Given the description of an element on the screen output the (x, y) to click on. 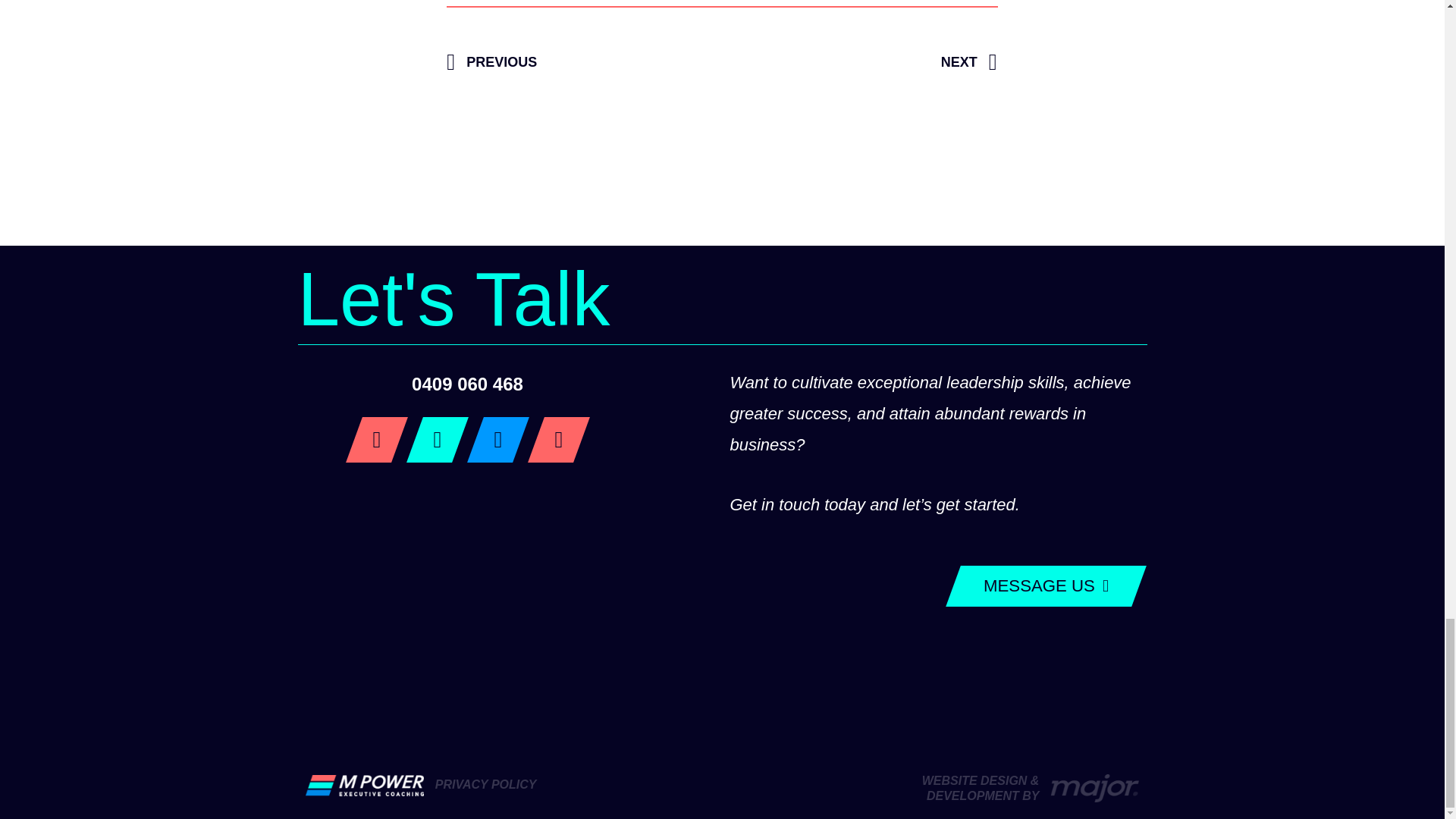
MESSAGE US (1039, 585)
0409 060 468 (467, 383)
PREVIOUS (584, 62)
PRIVACY POLICY (486, 784)
NEXT (859, 62)
